Given the description of an element on the screen output the (x, y) to click on. 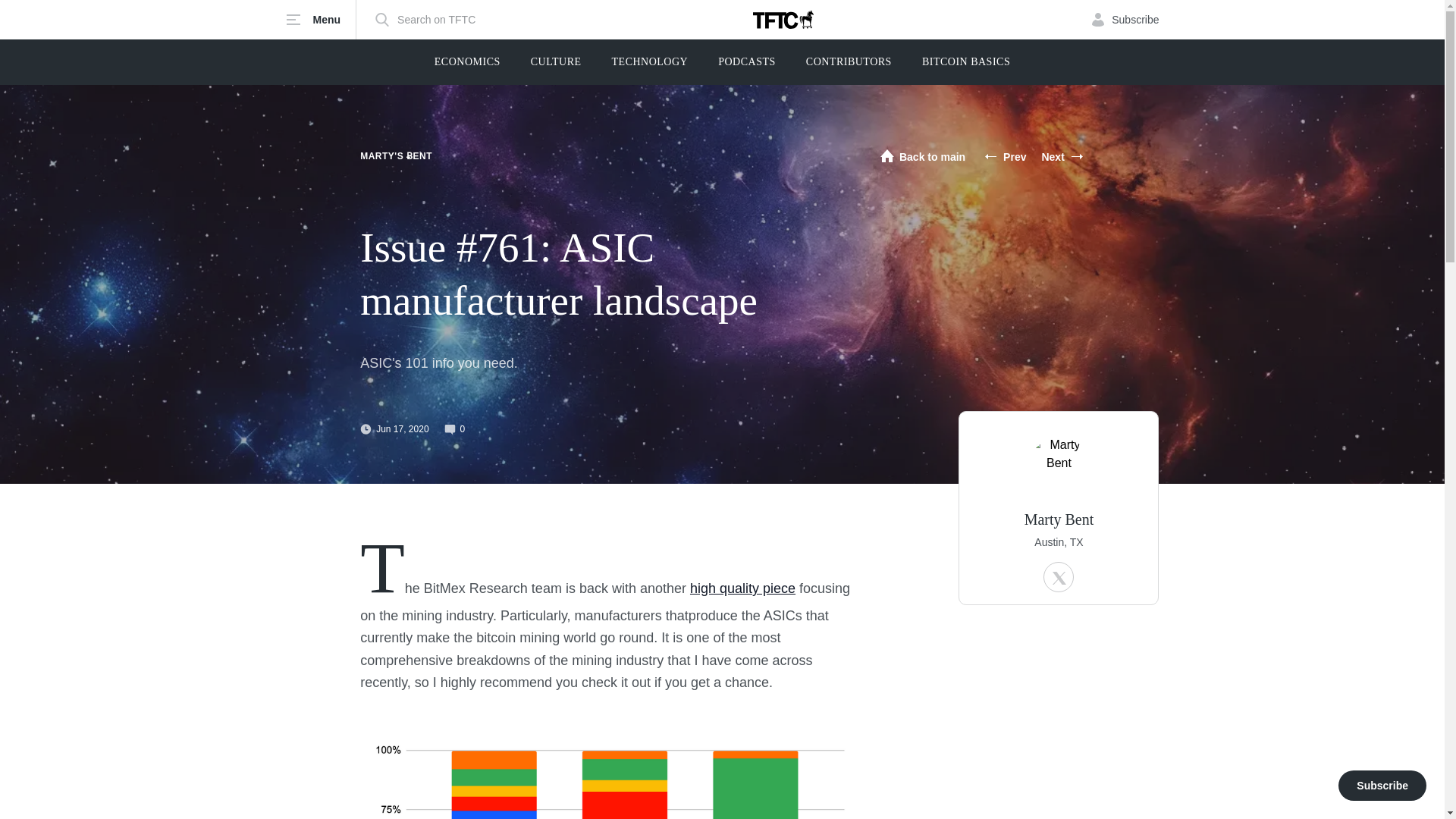
CULTURE (555, 62)
Next (1062, 156)
Back to main (922, 156)
Subscribe (1124, 19)
high quality piece (742, 588)
Menu (320, 19)
Prev (1005, 156)
CONTRIBUTORS (848, 62)
Marty Bent (1059, 518)
Search on TFTC (425, 19)
PODCASTS (746, 62)
Marty Bent (1058, 465)
TECHNOLOGY (649, 62)
ECONOMICS (466, 62)
BITCOIN BASICS (965, 62)
